Given the description of an element on the screen output the (x, y) to click on. 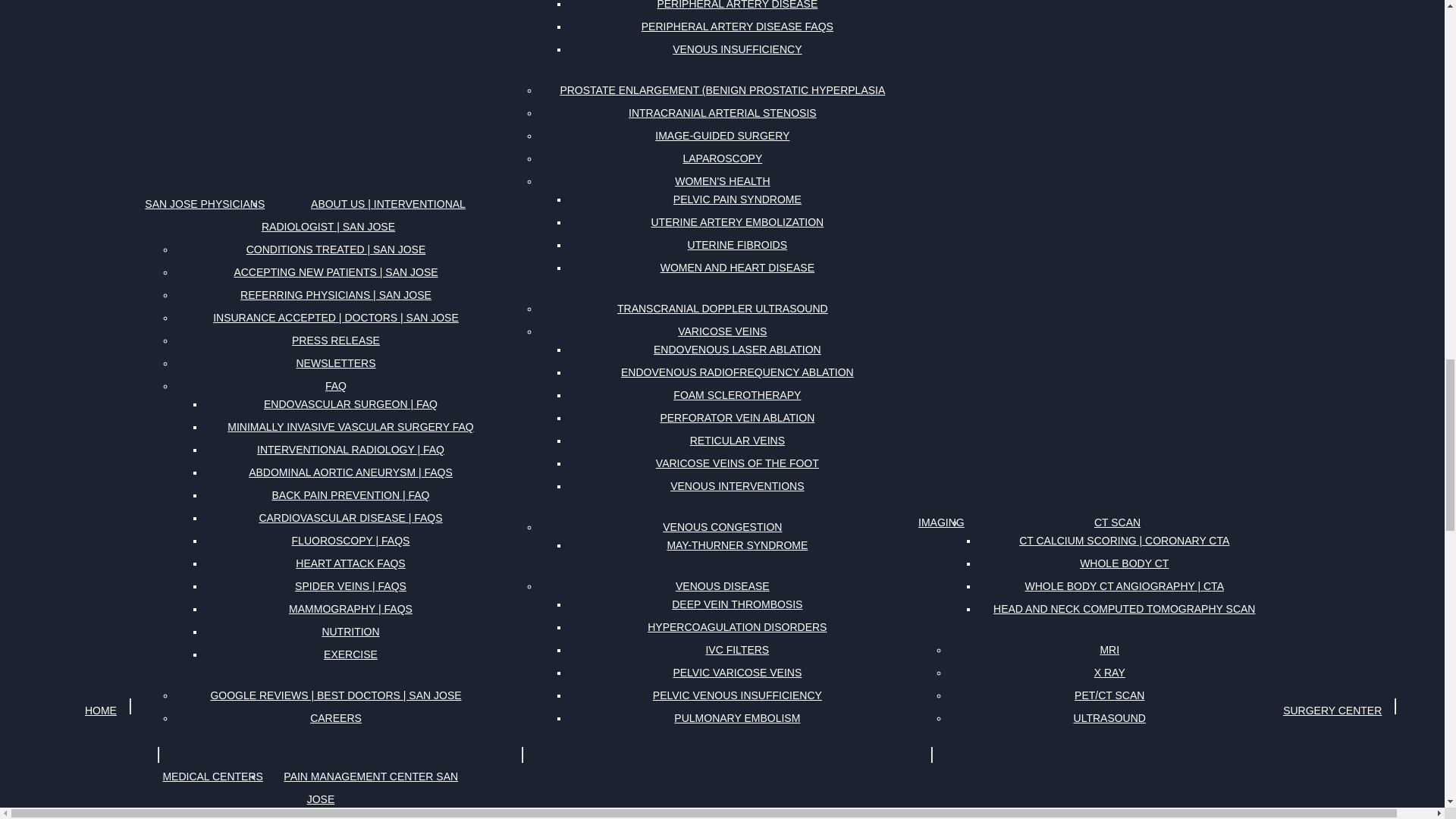
HEART ATTACK FAQS (350, 563)
EXERCISE (350, 654)
SAN JOSE PHYSICIANS (204, 203)
HOME (100, 710)
FAQ (335, 385)
NUTRITION (349, 631)
NEWSLETTERS (335, 362)
PRESS RELEASE (335, 340)
MINIMALLY INVASIVE VASCULAR SURGERY FAQ (349, 426)
CAREERS (336, 717)
